Given the description of an element on the screen output the (x, y) to click on. 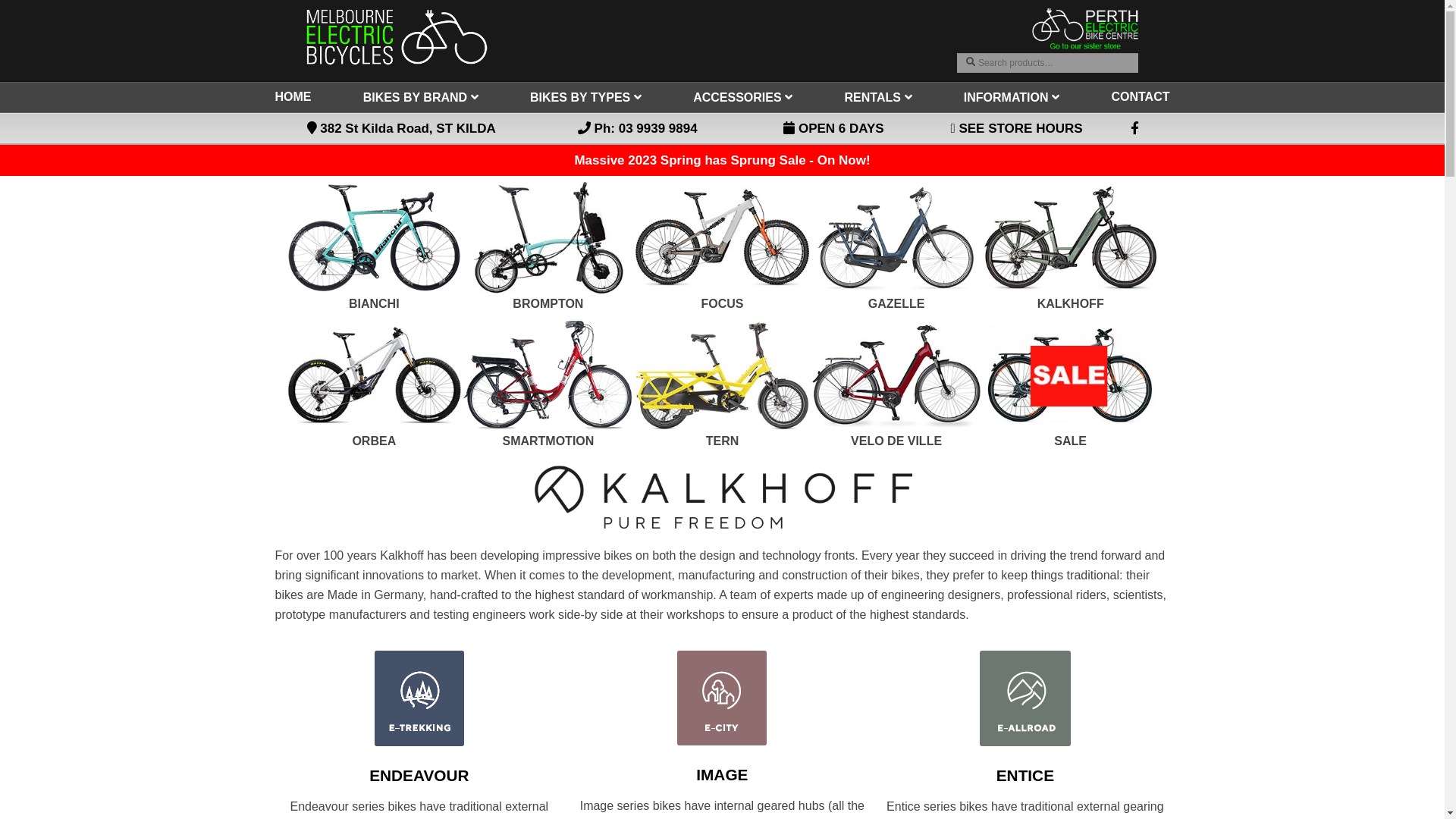
FOCUS Element type: text (721, 303)
BROMPTON Element type: text (547, 303)
Skip to navigation Element type: text (305, 6)
VELO DE VILLE Element type: text (895, 440)
TERN Element type: text (722, 440)
ACCESSORIES Element type: text (742, 97)
SALE Element type: text (1070, 440)
HOME Element type: text (292, 96)
BIANCHI Element type: text (373, 303)
BIKES BY BRAND Element type: text (420, 97)
SMARTMOTION Element type: text (547, 440)
SEE STORE HOURS Element type: text (1018, 128)
BIKES BY TYPES Element type: text (585, 97)
CONTACT Element type: text (1139, 96)
GAZELLE Element type: text (896, 303)
2023 Spring has Sprung Sale Element type: text (716, 160)
RENTALS Element type: text (878, 97)
Search Element type: text (956, 52)
KALKHOFF Element type: text (1070, 303)
ORBEA Element type: text (373, 440)
INFORMATION Element type: text (1011, 97)
